Given the description of an element on the screen output the (x, y) to click on. 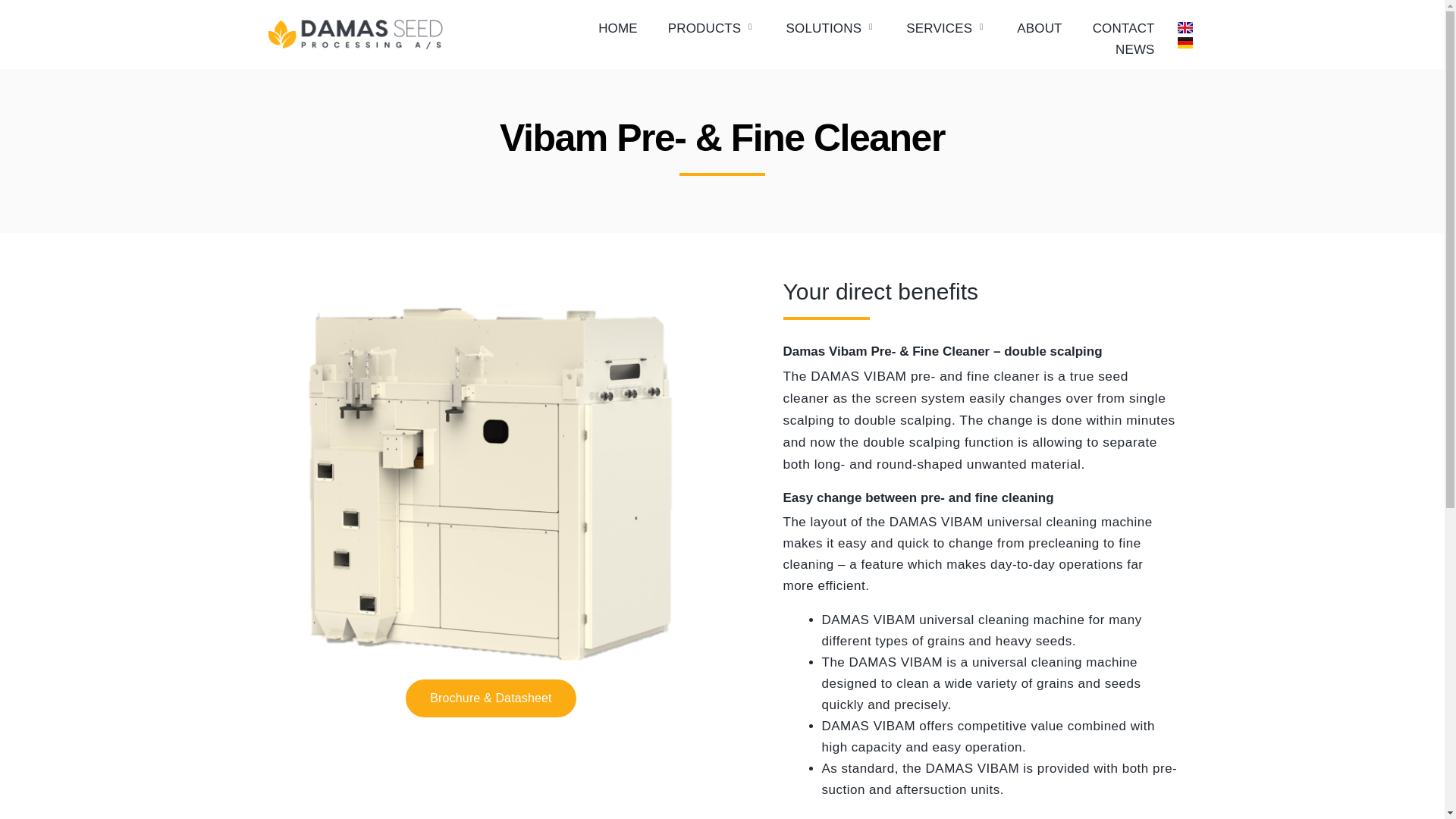
SERVICES (946, 28)
SOLUTIONS (831, 28)
Your direct benefits (979, 291)
NEWS (1135, 49)
PRODUCTS (711, 28)
Easy change between pre- and fine cleaning (979, 497)
ABOUT (1039, 28)
HOME (617, 28)
CONTACT (1123, 28)
